Given the description of an element on the screen output the (x, y) to click on. 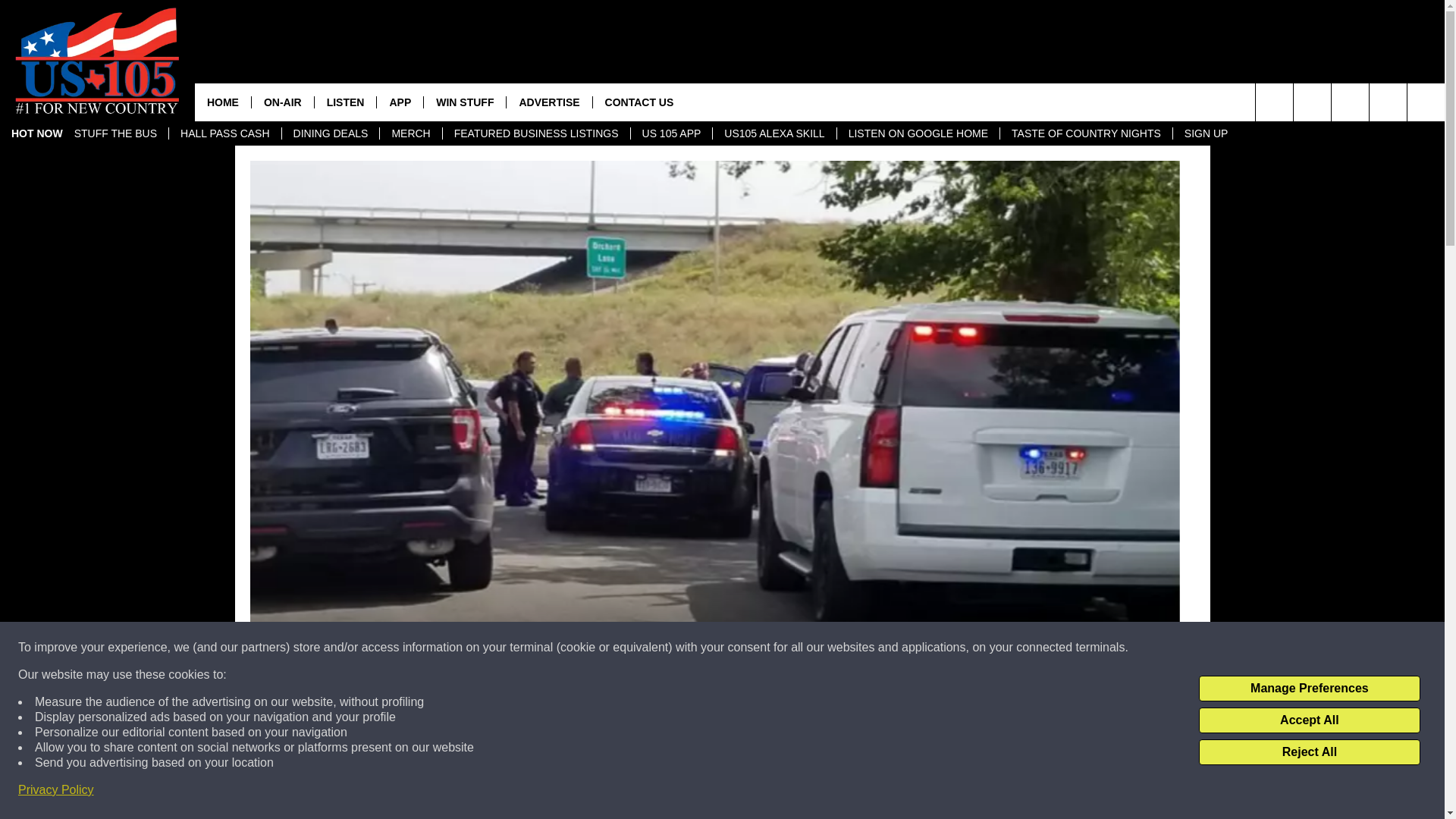
MERCH (409, 133)
US 105 APP (671, 133)
Reject All (1309, 751)
Privacy Policy (55, 789)
LISTEN (345, 102)
TASTE OF COUNTRY NIGHTS (1085, 133)
Manage Preferences (1309, 688)
STUFF THE BUS (115, 133)
DINING DEALS (330, 133)
HALL PASS CASH (224, 133)
ON-AIR (282, 102)
Share on Facebook (517, 791)
Share on Twitter (912, 791)
FEATURED BUSINESS LISTINGS (536, 133)
Accept All (1309, 720)
